Given the description of an element on the screen output the (x, y) to click on. 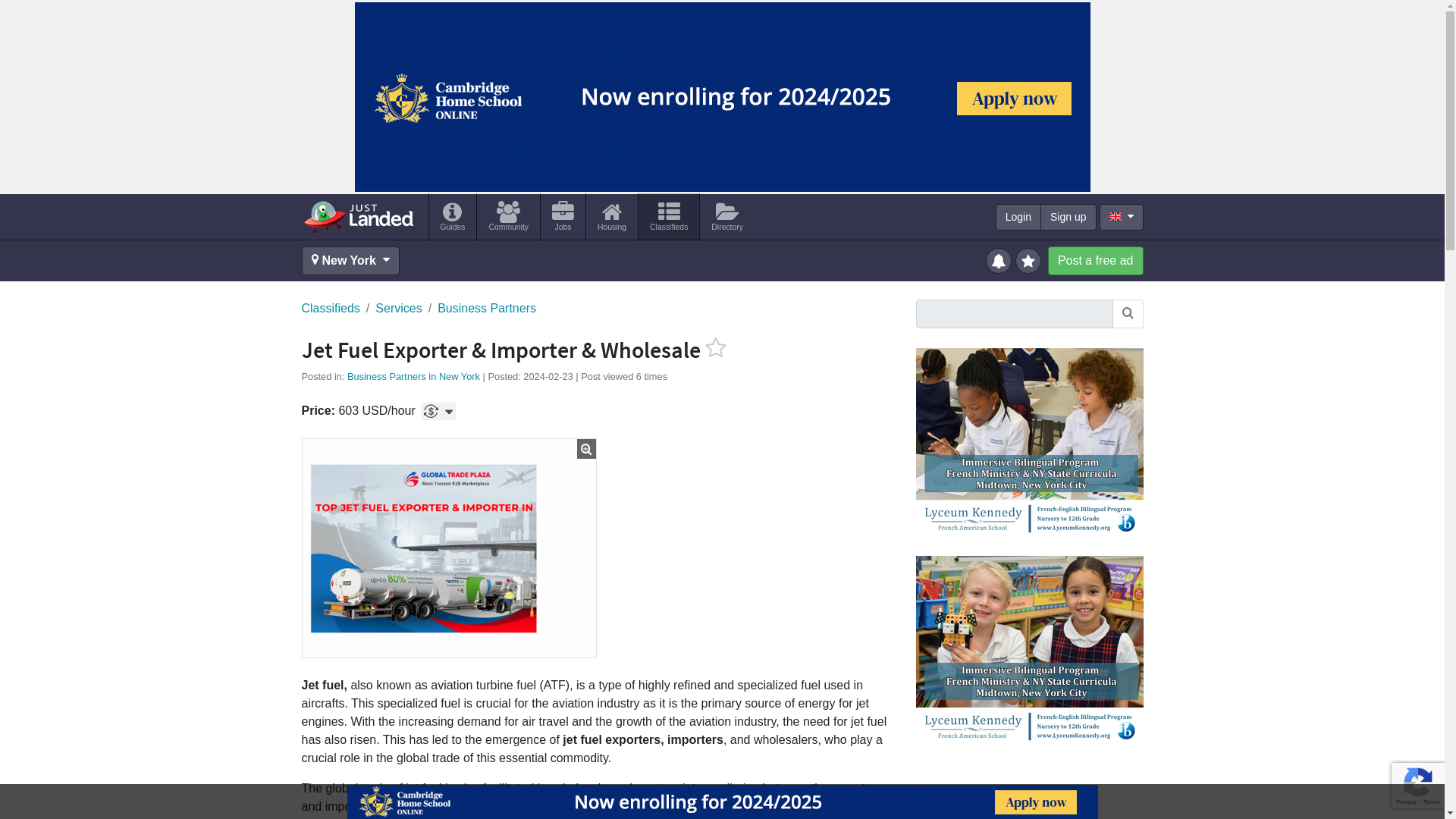
Guides (453, 216)
Housing (611, 216)
Services (398, 308)
Just Landed (357, 216)
Jobs in New York (562, 216)
New York (349, 260)
Login (1018, 216)
Alerts (999, 259)
Classifieds in New York (668, 216)
Business Partners in New York (413, 376)
Directory in New York (727, 216)
Business Partners (486, 308)
Just Landed (357, 216)
Sign up (1068, 216)
Classifieds (668, 216)
